Given the description of an element on the screen output the (x, y) to click on. 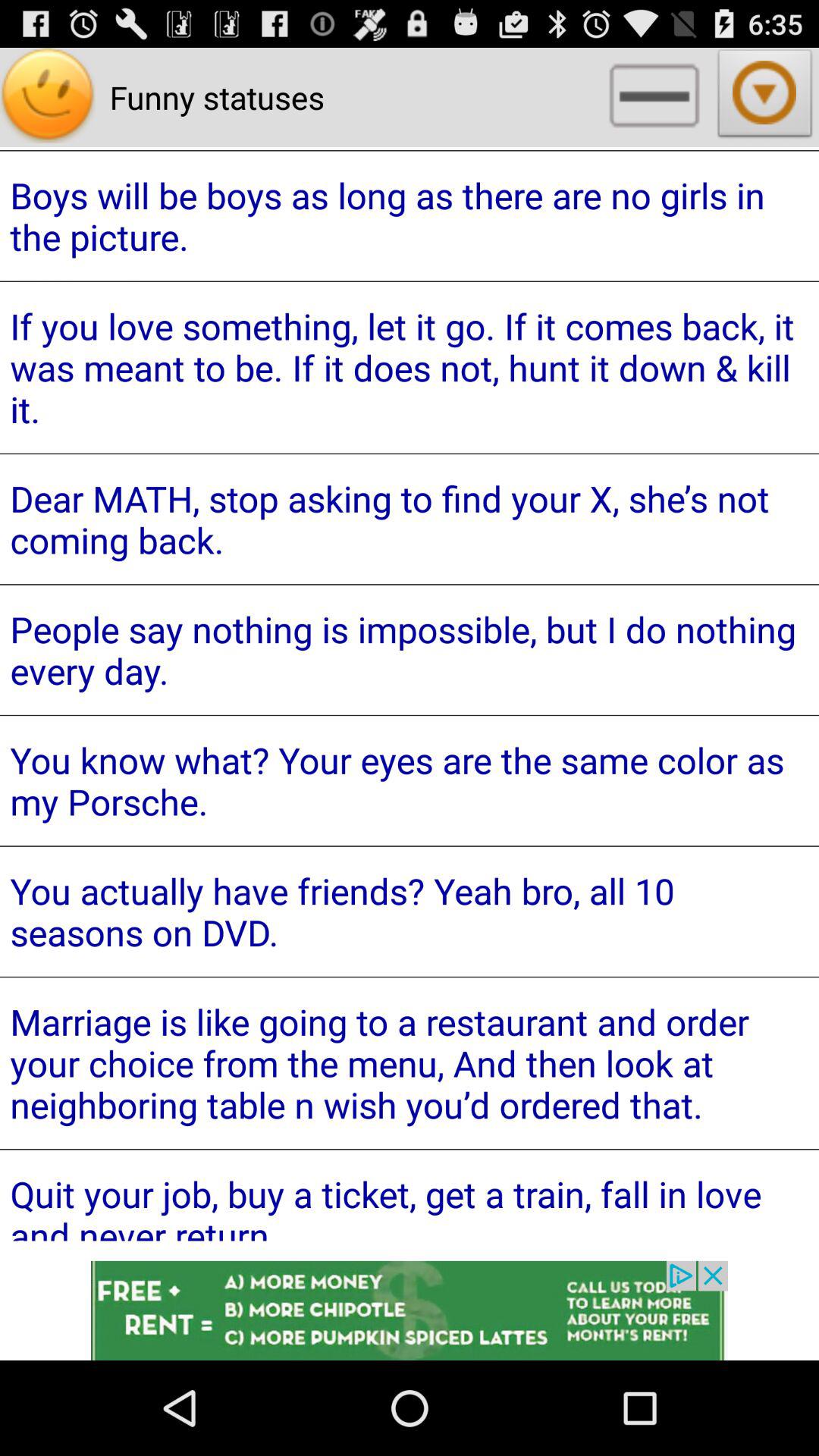
open advertisement (409, 1310)
